Given the description of an element on the screen output the (x, y) to click on. 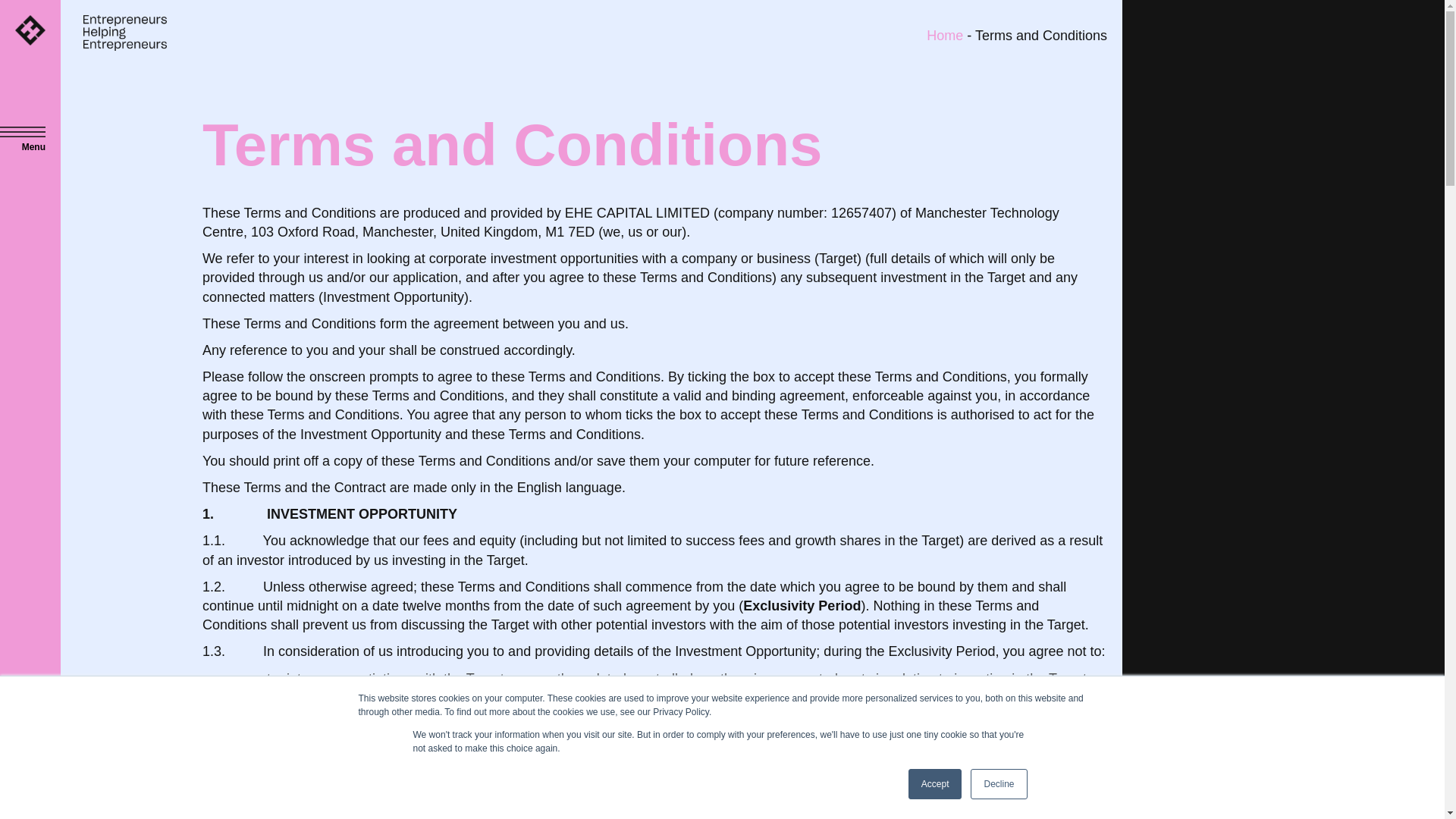
Decline (998, 784)
Accept (935, 784)
Home (944, 35)
